Given the description of an element on the screen output the (x, y) to click on. 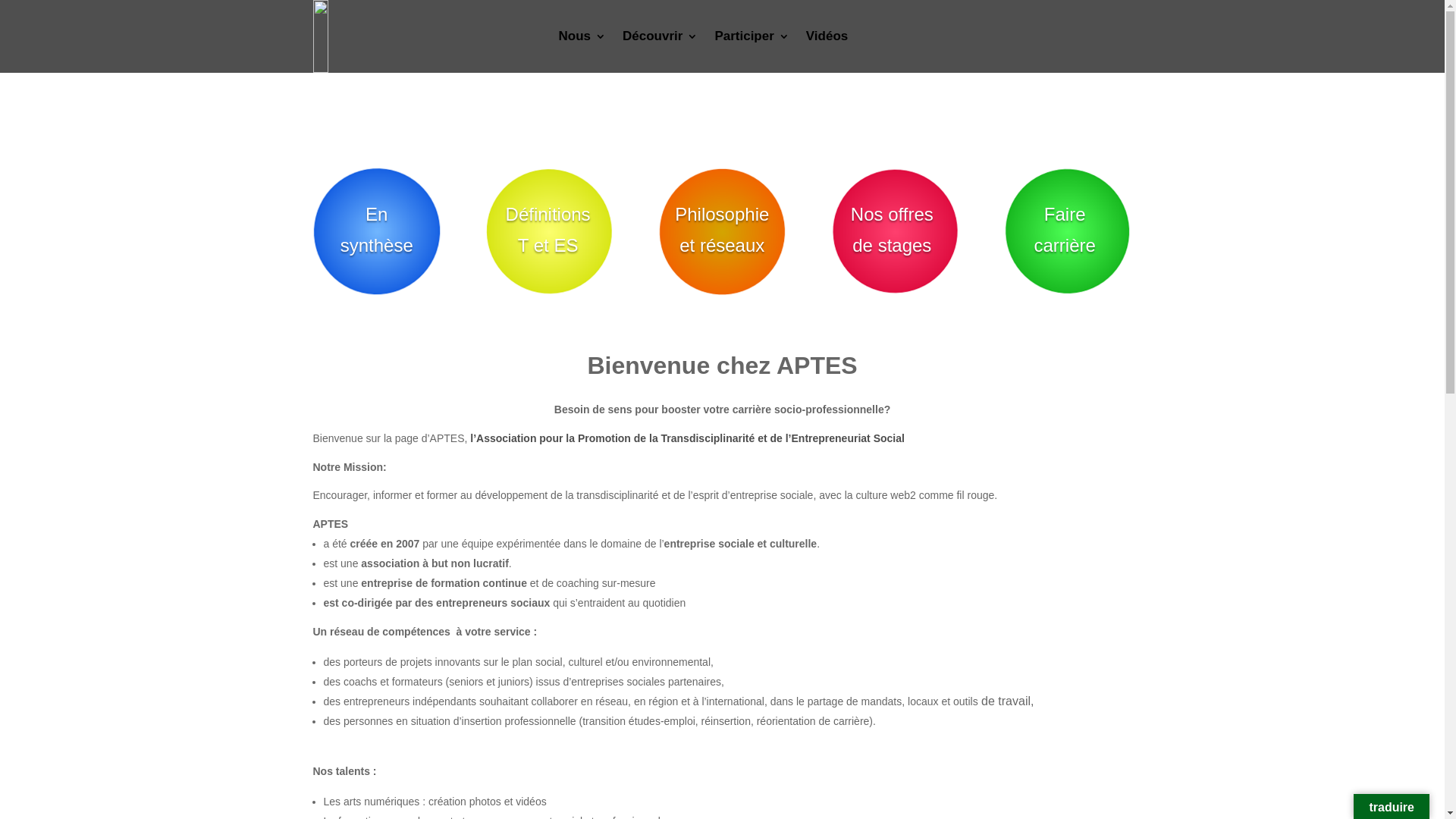
Participer Element type: text (751, 36)
Nous Element type: text (582, 36)
Nos offres de stages Element type: text (891, 230)
